Given the description of an element on the screen output the (x, y) to click on. 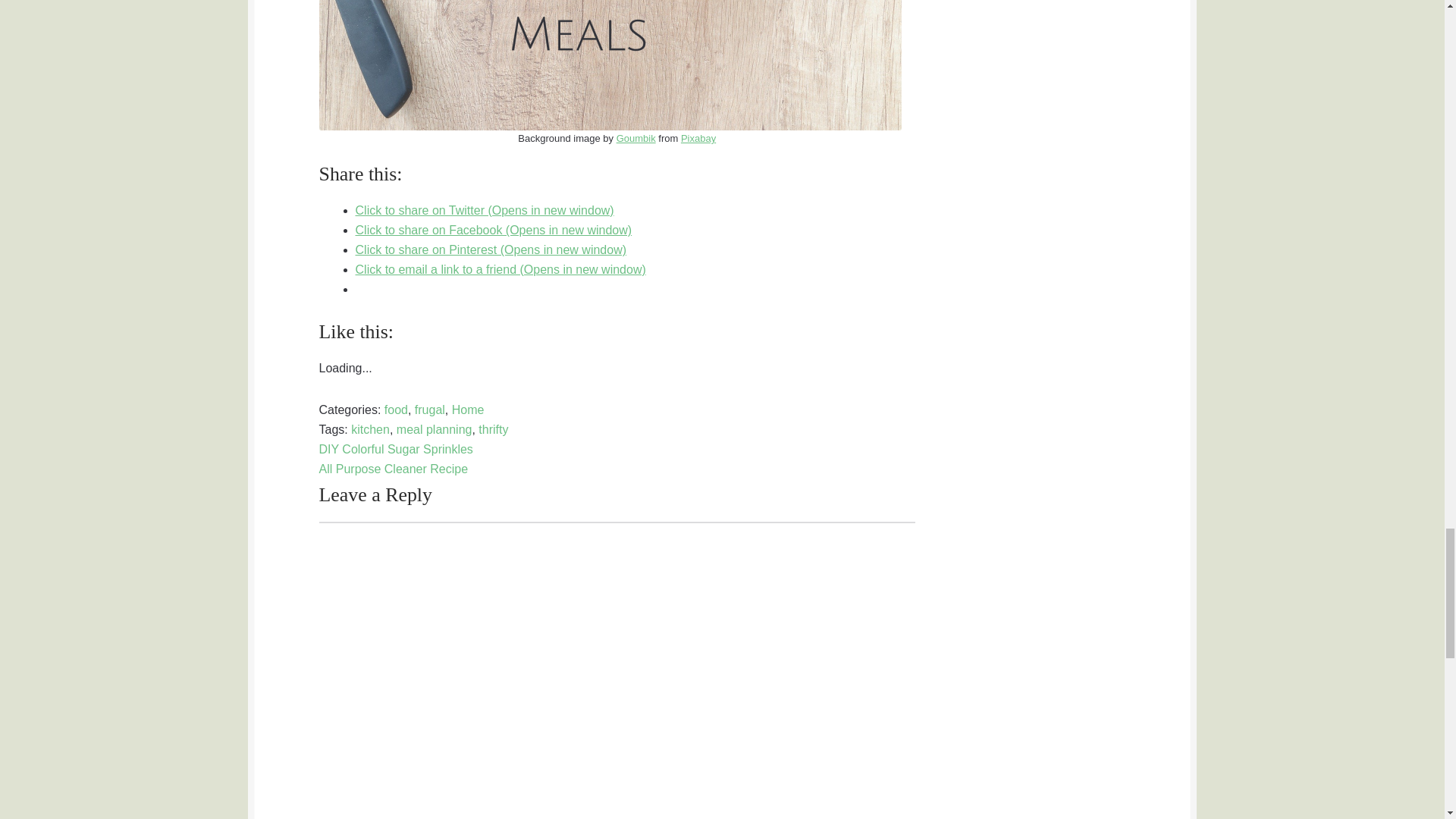
Click to email a link to a friend (500, 269)
Click to share on Pinterest (491, 249)
Click to share on Facebook (493, 229)
Click to share on Twitter (484, 210)
